Given the description of an element on the screen output the (x, y) to click on. 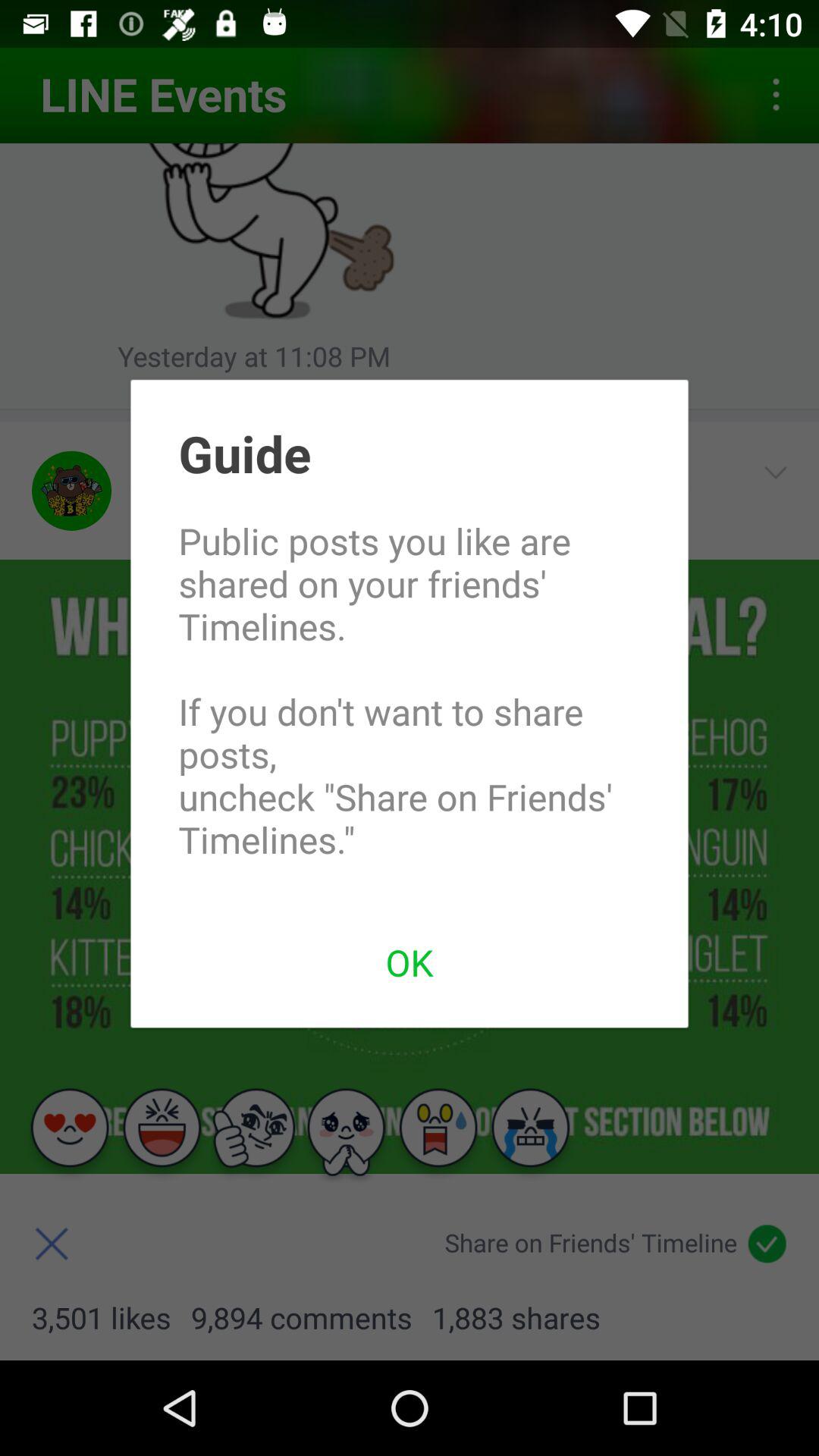
flip to ok icon (409, 962)
